Given the description of an element on the screen output the (x, y) to click on. 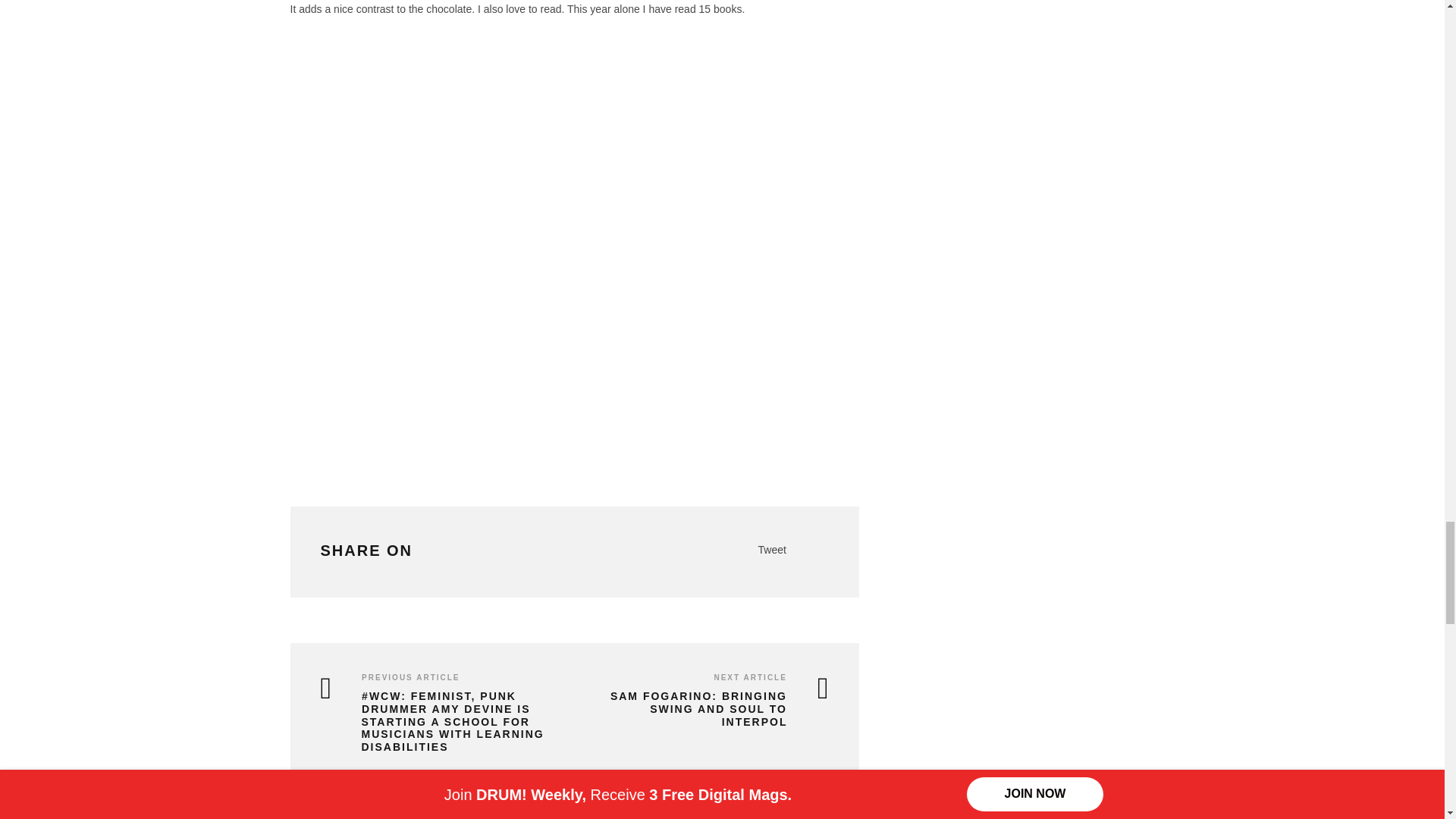
Tweet (772, 549)
NEXT ARTICLE (749, 677)
SAM FOGARINO: BRINGING SWING AND SOUL TO INTERPOL (705, 709)
PREVIOUS ARTICLE (410, 677)
